Given the description of an element on the screen output the (x, y) to click on. 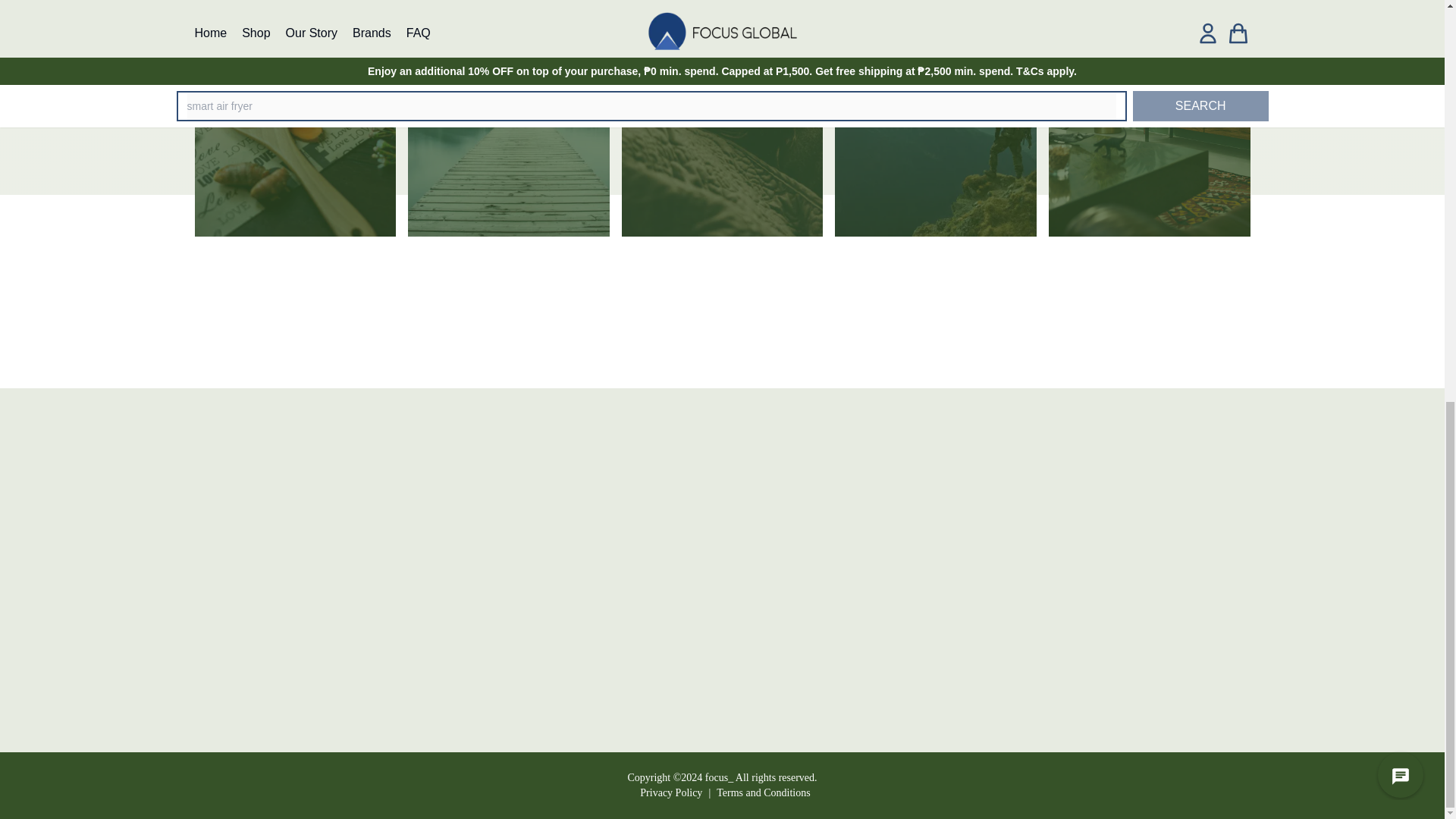
Webchat Widget (1390, 5)
